Given the description of an element on the screen output the (x, y) to click on. 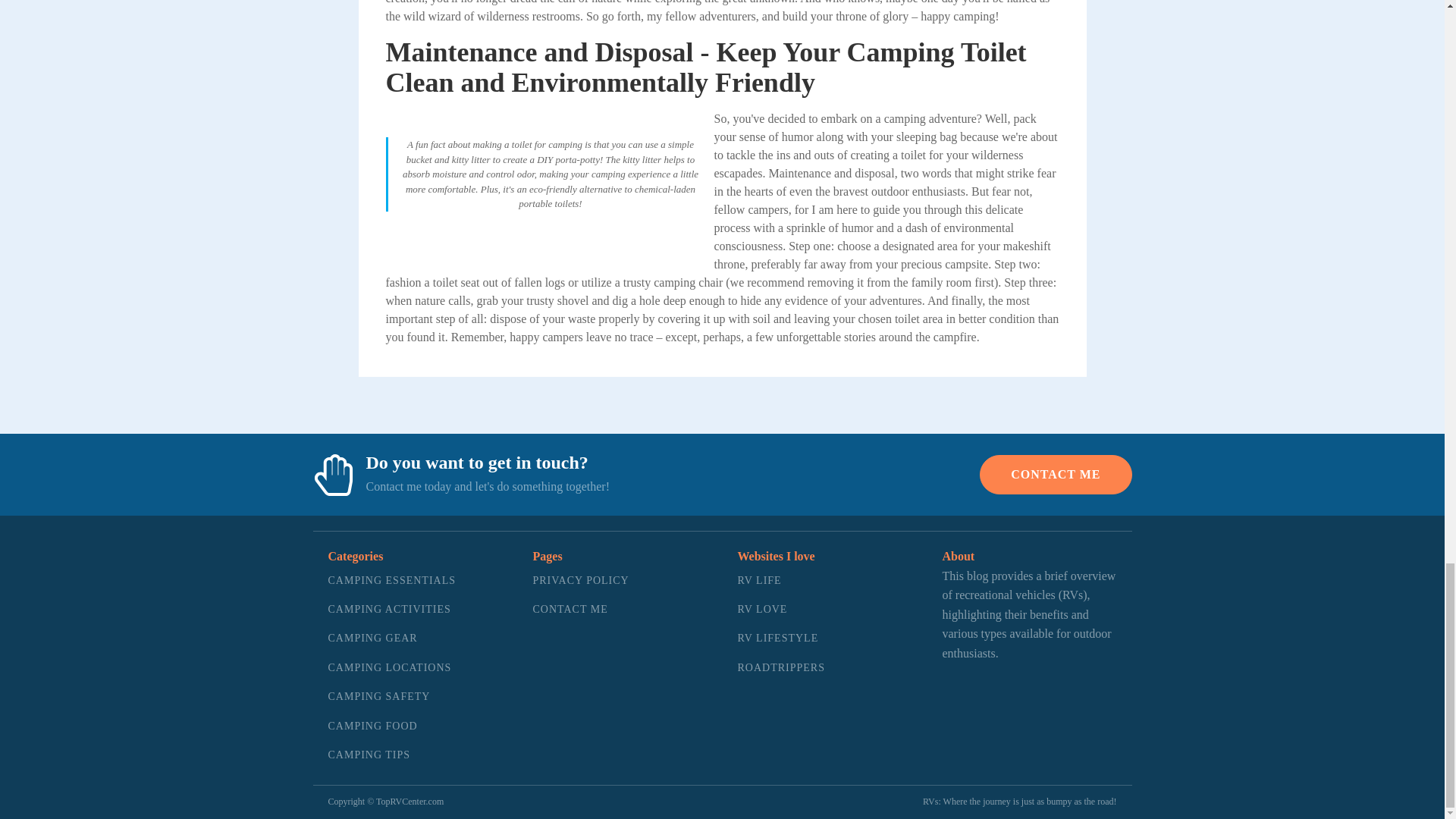
RV LIFESTYLE (780, 638)
CONTACT ME (580, 609)
CAMPING TIPS (391, 755)
CAMPING ESSENTIALS (391, 580)
CAMPING GEAR (391, 638)
PRIVACY POLICY (580, 580)
CAMPING FOOD (391, 726)
RV LOVE (780, 609)
CAMPING LOCATIONS (391, 667)
ROADTRIPPERS (780, 667)
RV LIFE (780, 580)
CAMPING ACTIVITIES (391, 609)
CONTACT ME (1055, 474)
CAMPING SAFETY (391, 696)
